Given the description of an element on the screen output the (x, y) to click on. 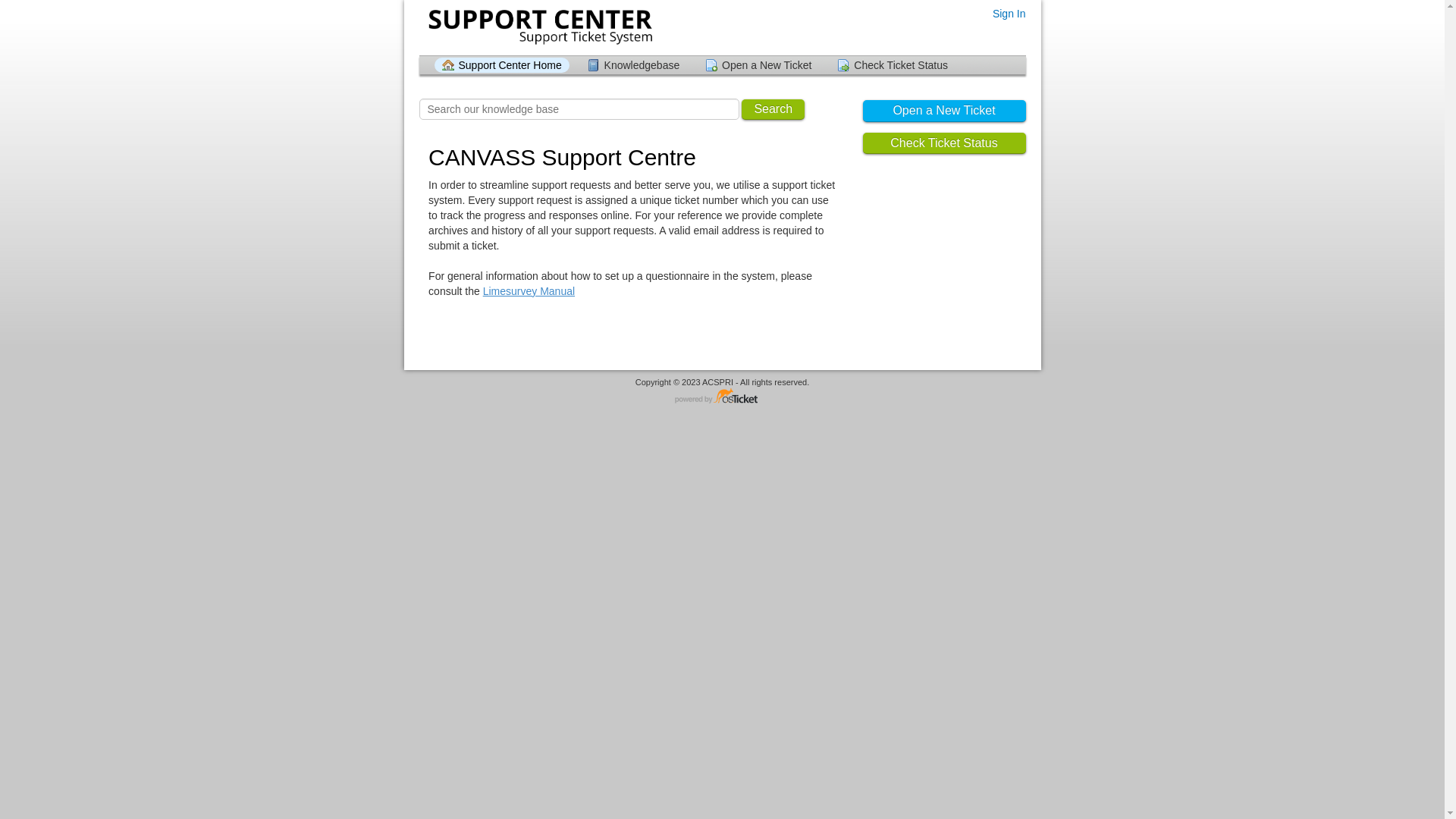
Check Ticket Status Element type: text (944, 143)
Support Center Home Element type: text (500, 64)
Sign In Element type: text (1009, 13)
Open a New Ticket Element type: text (944, 111)
Check Ticket Status Element type: text (892, 64)
Support Center Element type: hover (538, 26)
Open a New Ticket Element type: text (758, 64)
Helpdesk software - powered by osTicket Element type: text (722, 396)
Limesurvey Manual Element type: text (528, 291)
Search Element type: text (772, 109)
Knowledgebase Element type: text (633, 64)
